Given the description of an element on the screen output the (x, y) to click on. 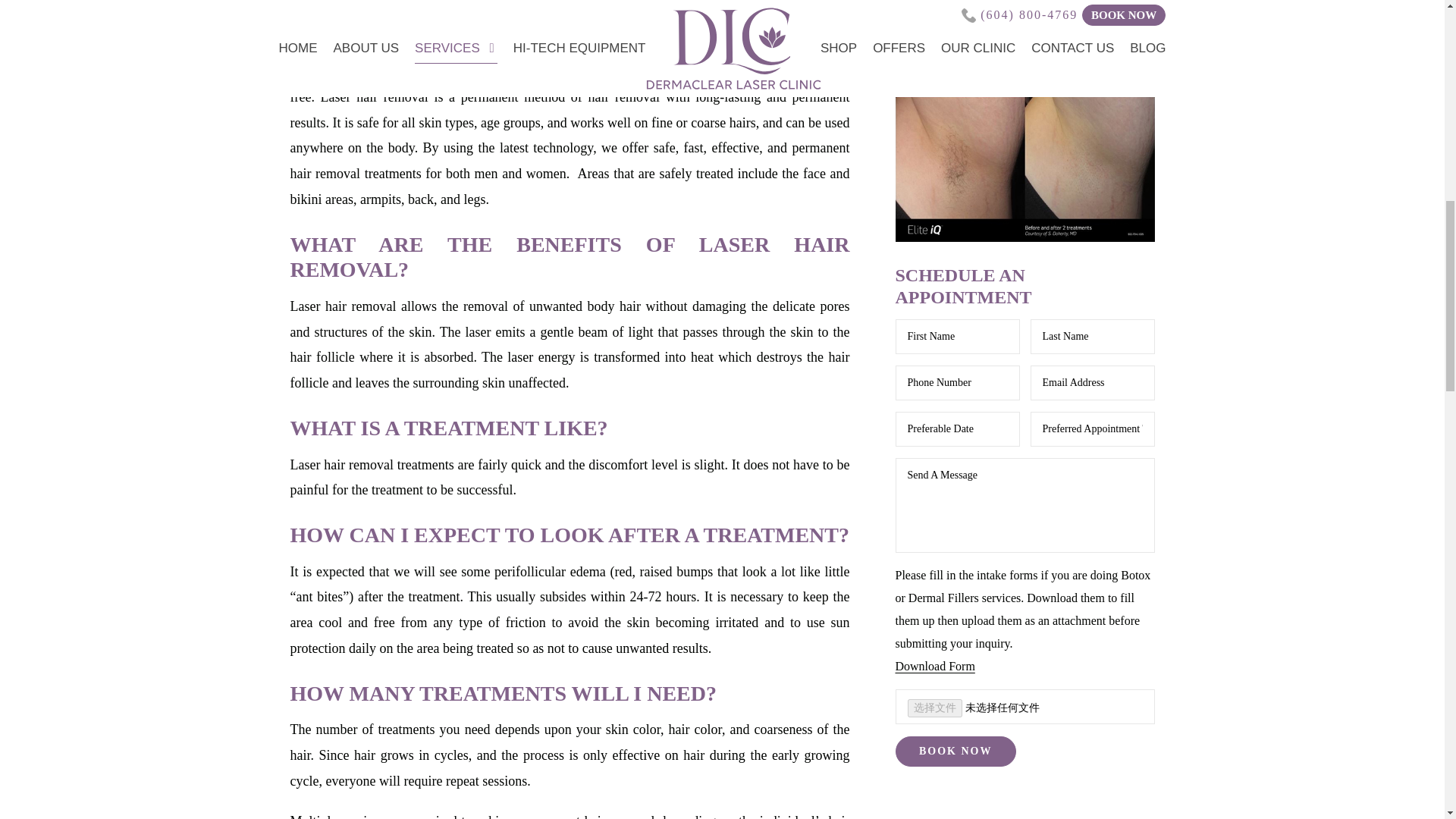
Download Form (934, 476)
BOOK NOW (954, 562)
BOOK NOW (954, 562)
